Given the description of an element on the screen output the (x, y) to click on. 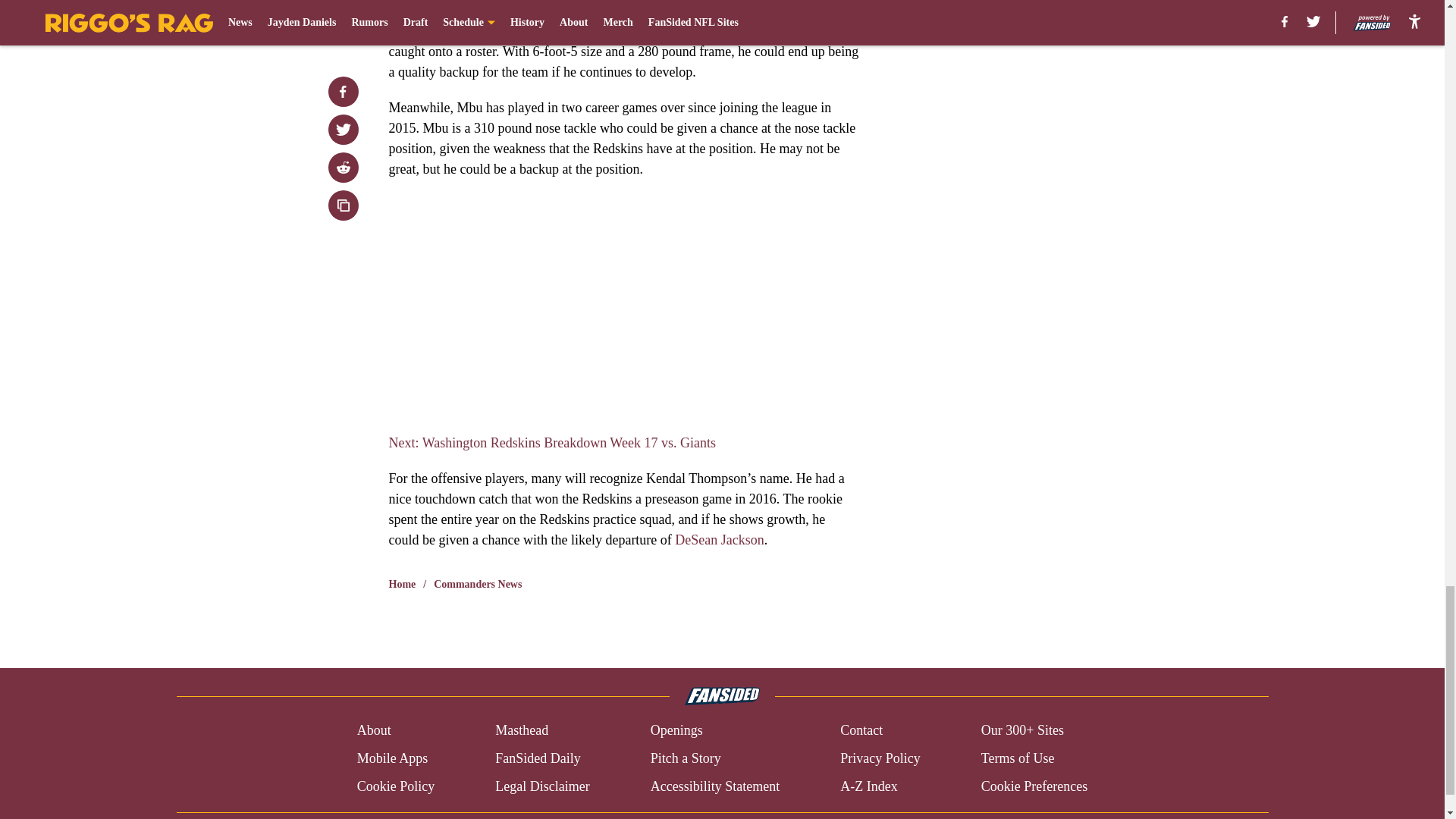
Next: Washington Redskins Breakdown Week 17 vs. Giants (551, 442)
DeSean Jackson (718, 539)
Rufus Johnson (510, 10)
Openings (676, 730)
Contact (861, 730)
About (373, 730)
Privacy Policy (880, 758)
Commanders News (477, 584)
FanSided Daily (537, 758)
Home (401, 584)
Joey Mbu (604, 10)
Mobile Apps (392, 758)
Masthead (521, 730)
Pitch a Story (685, 758)
